Given the description of an element on the screen output the (x, y) to click on. 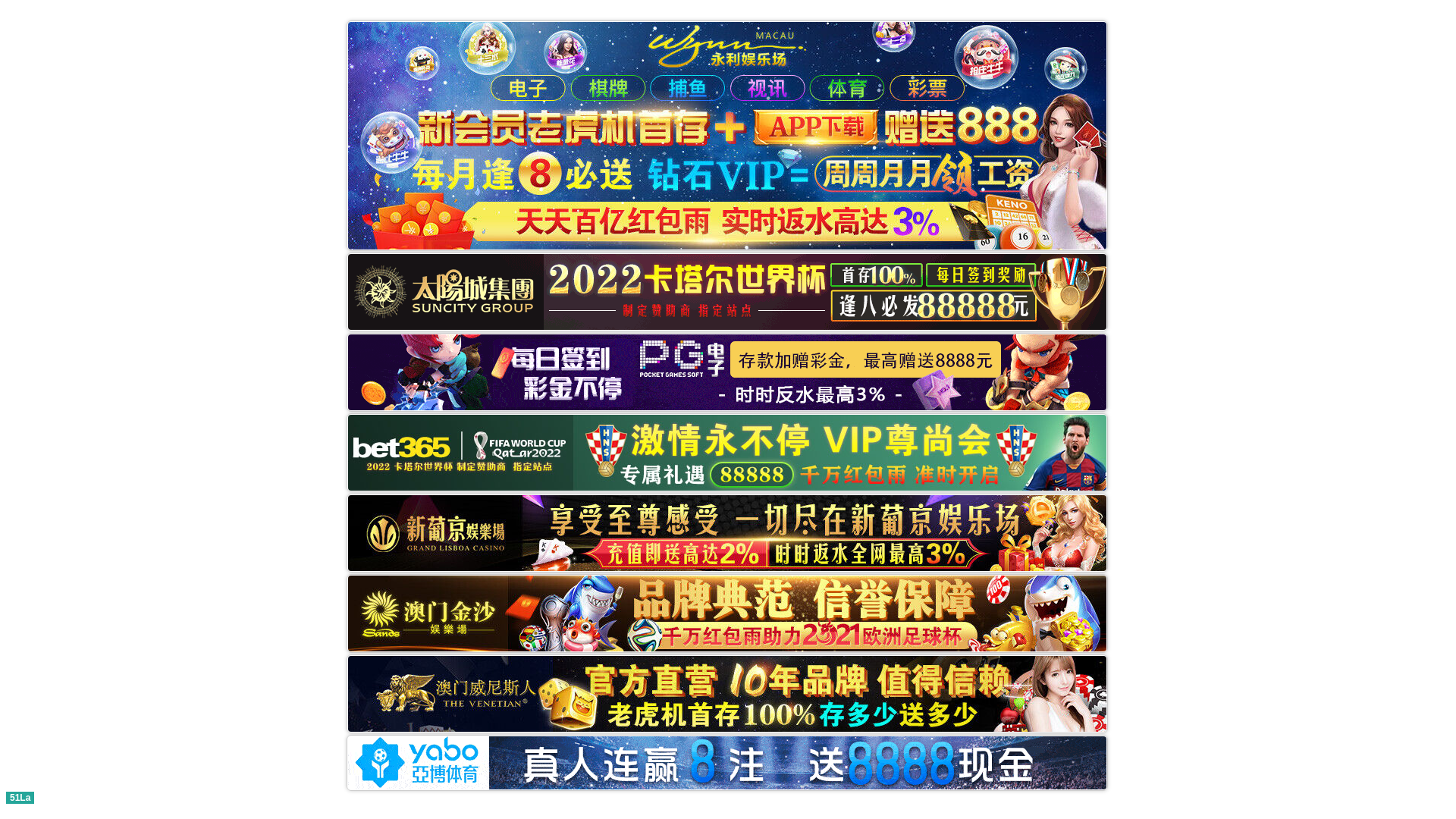
51La Element type: text (20, 796)
